Given the description of an element on the screen output the (x, y) to click on. 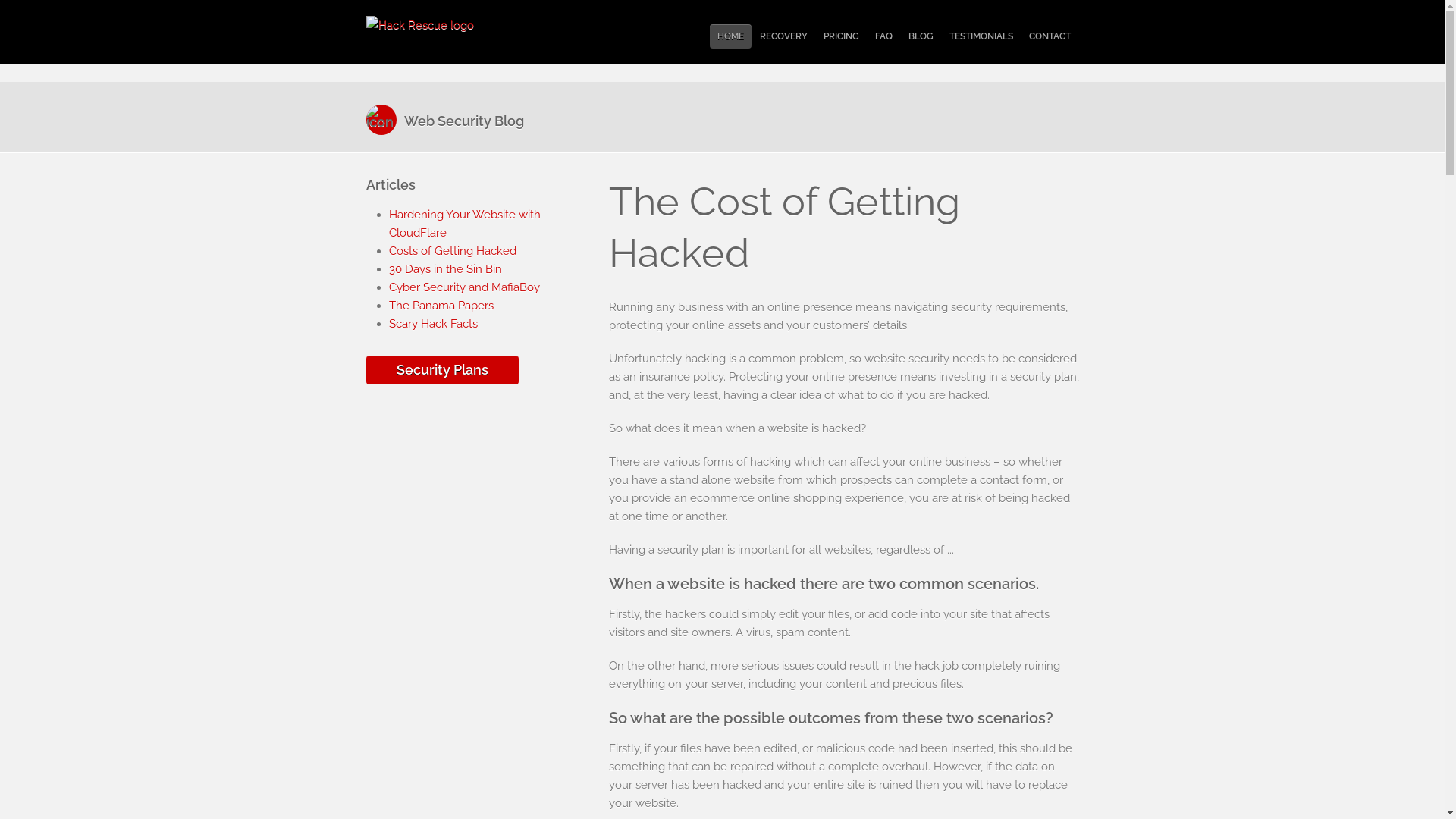
RECOVERY Element type: text (783, 36)
Security Plans Element type: text (441, 370)
PRICING Element type: text (840, 36)
Costs of Getting Hacked Element type: text (451, 250)
The Panama Papers Element type: text (440, 305)
BLOG Element type: text (920, 36)
Hardening Your Website with CloudFlare Element type: text (463, 223)
HOME Element type: text (730, 36)
Scary Hack Facts Element type: text (432, 323)
CONTACT Element type: text (1048, 36)
30 Days in the Sin Bin Element type: text (444, 269)
Cyber Security and MafiaBoy Element type: text (463, 287)
TESTIMONIALS Element type: text (980, 36)
FAQ Element type: text (883, 36)
